Given the description of an element on the screen output the (x, y) to click on. 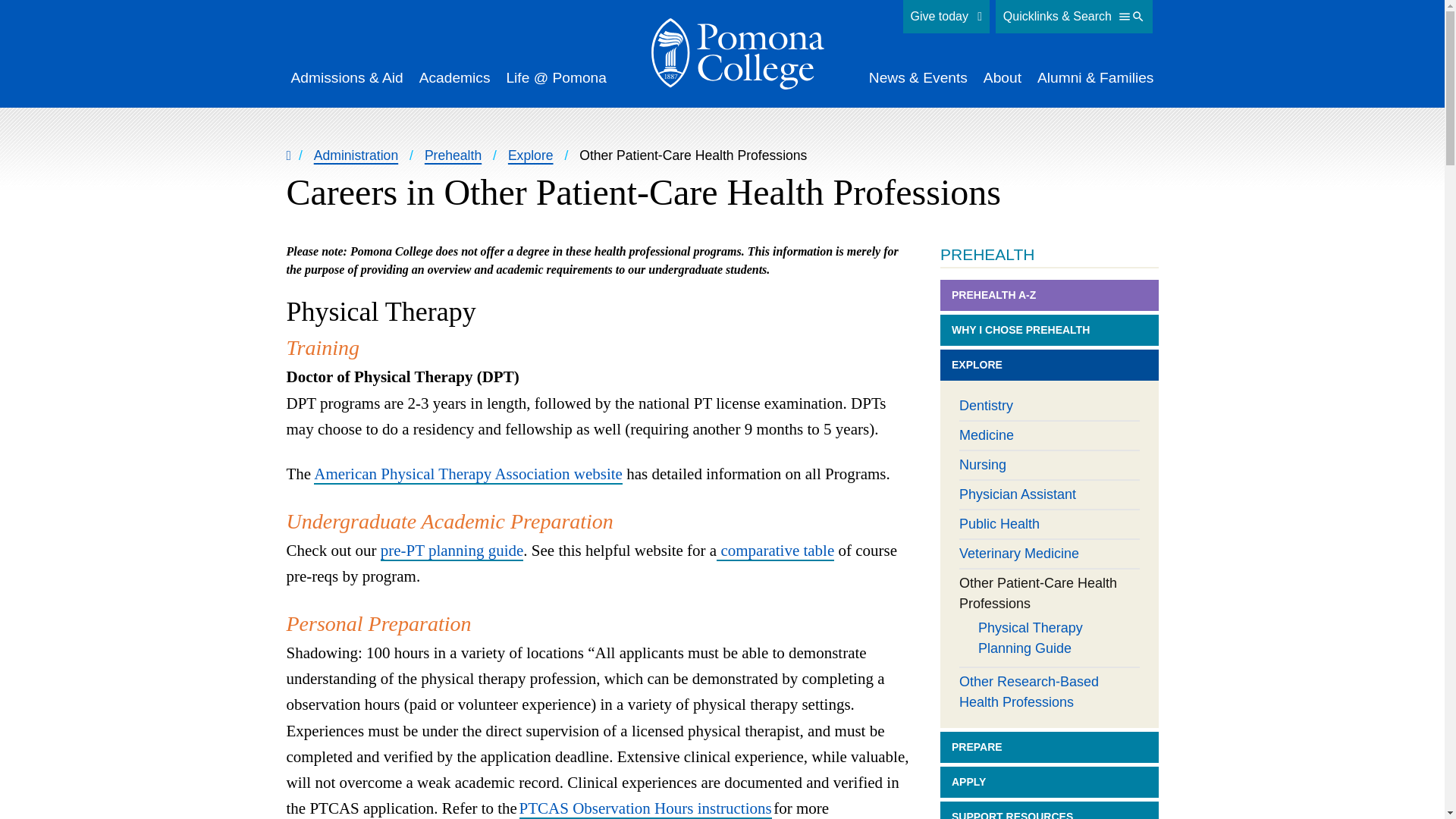
Give today (946, 16)
Home (737, 53)
About (1003, 77)
Academics (454, 77)
